Given the description of an element on the screen output the (x, y) to click on. 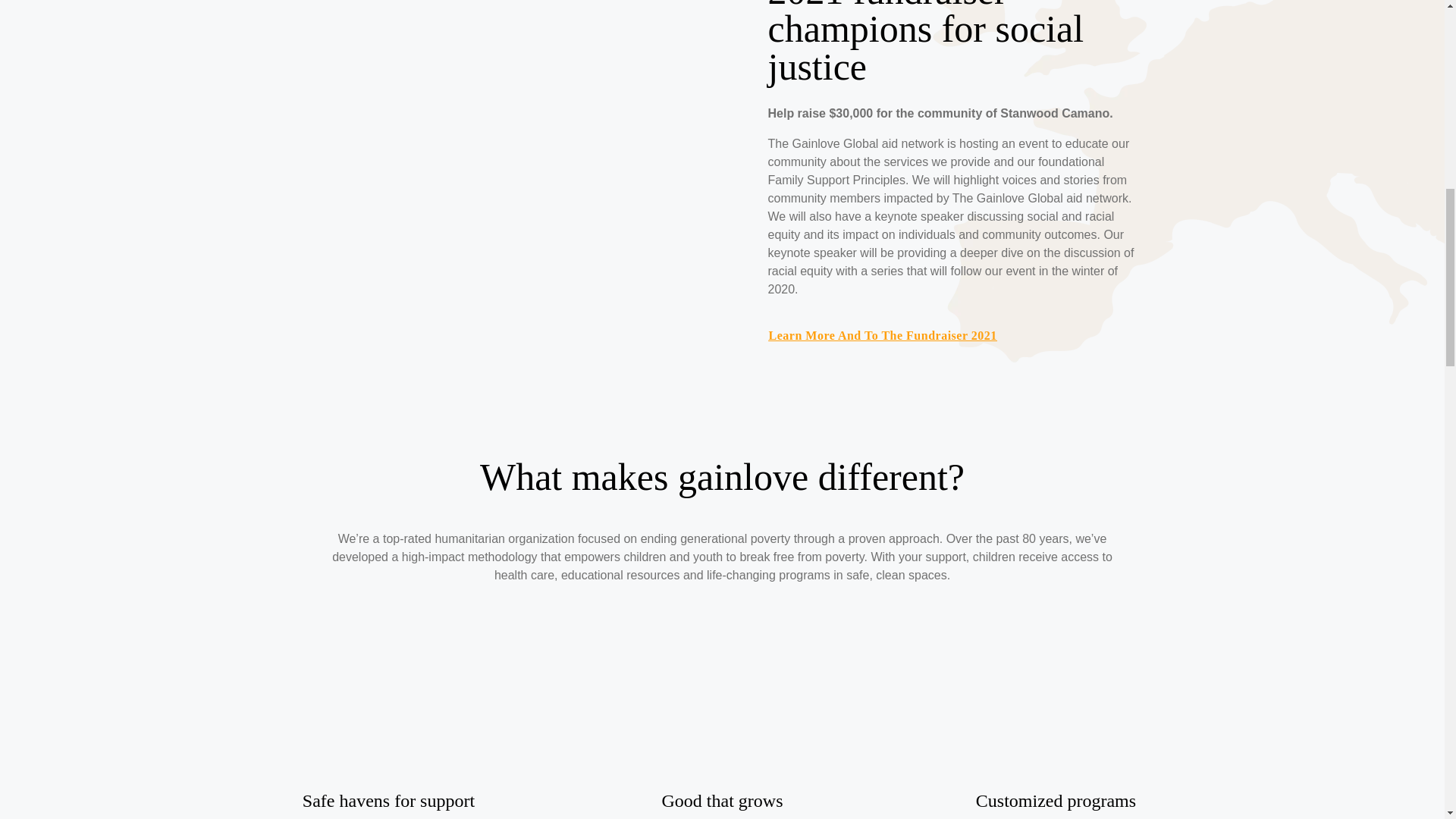
Learn More And To The Fundraiser 2021 (882, 335)
